Given the description of an element on the screen output the (x, y) to click on. 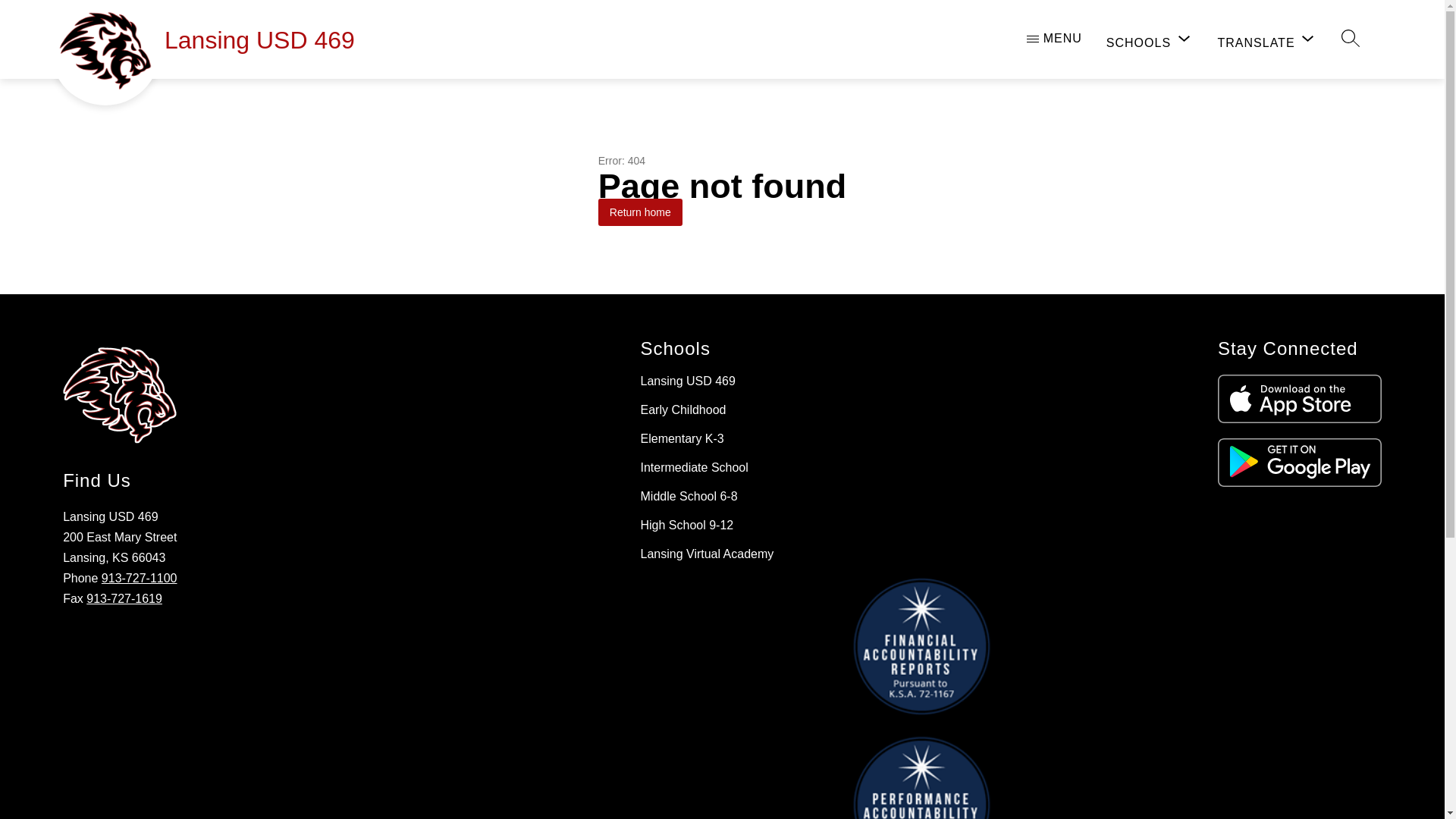
913-727-1100 (139, 577)
Lansing USD 469 (687, 381)
SCHOOLS (1149, 40)
Return home (640, 212)
Middle School 6-8 (688, 496)
Elementary K-3 (681, 438)
Early Childhood (682, 409)
913-727-1619 (123, 598)
TRANSLATE (1267, 40)
MENU (1053, 37)
